Given the description of an element on the screen output the (x, y) to click on. 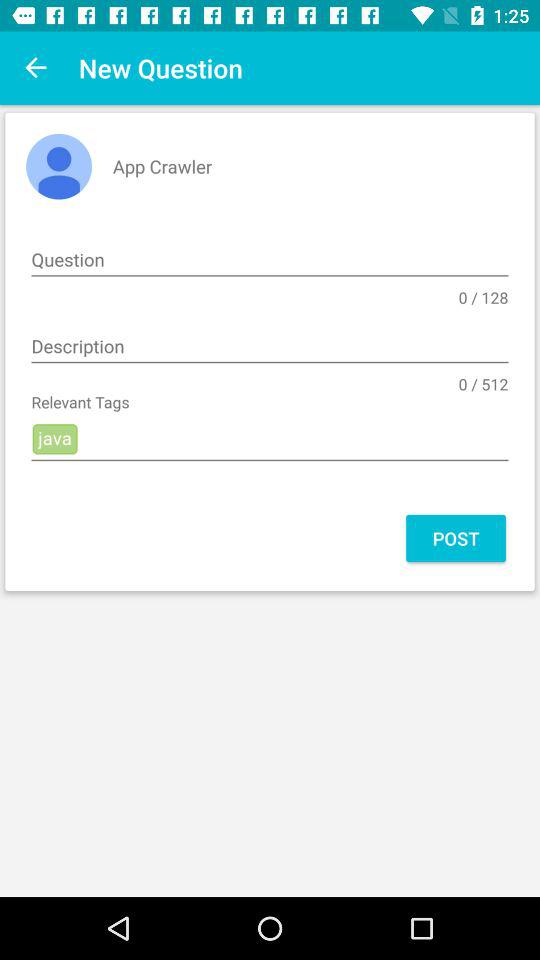
press item below 0 / 128 (269, 347)
